Given the description of an element on the screen output the (x, y) to click on. 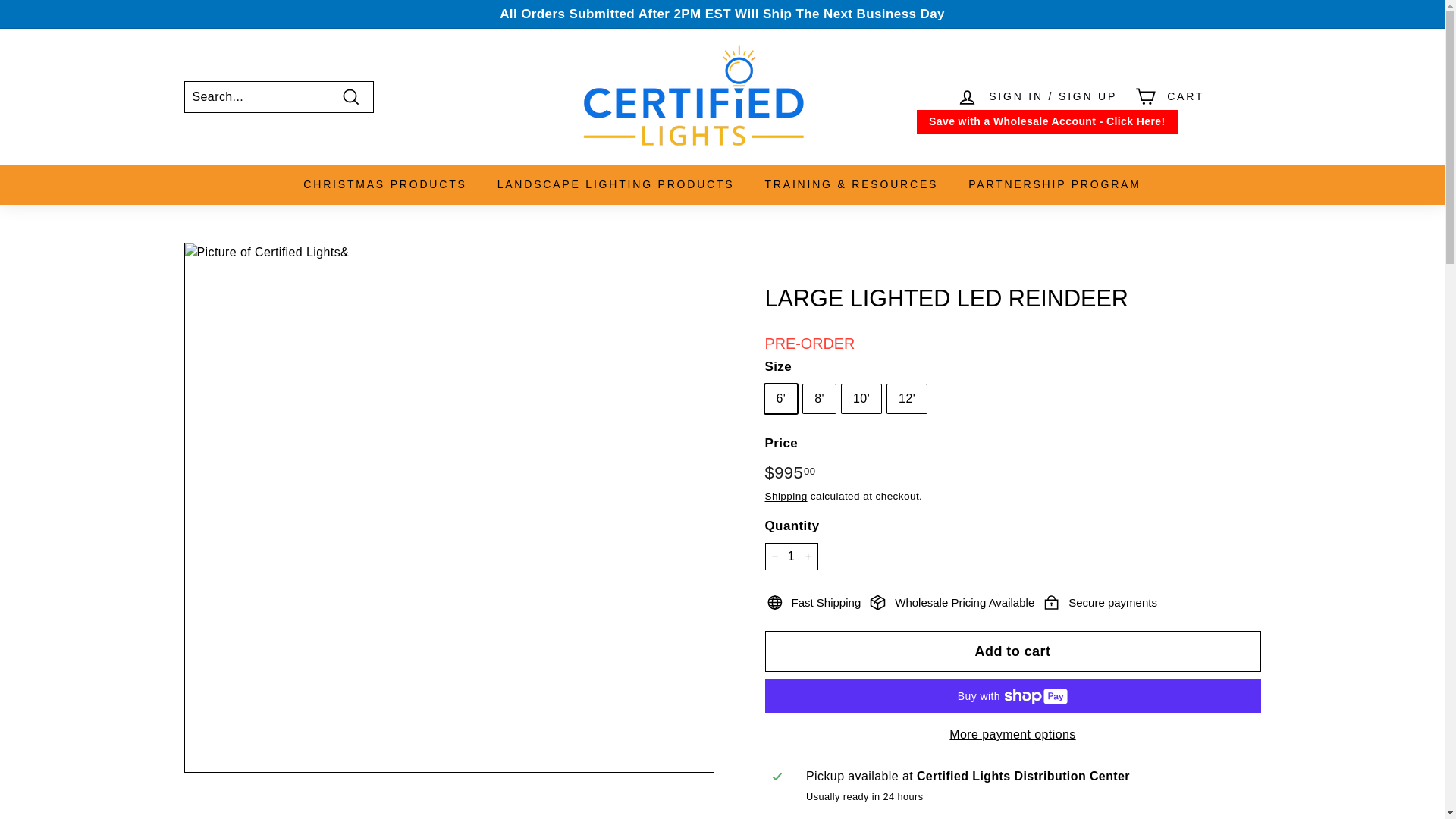
CHRISTMAS PRODUCTS (384, 184)
Save with a Wholesale Account - Click Here! (1047, 121)
1 (790, 556)
